Given the description of an element on the screen output the (x, y) to click on. 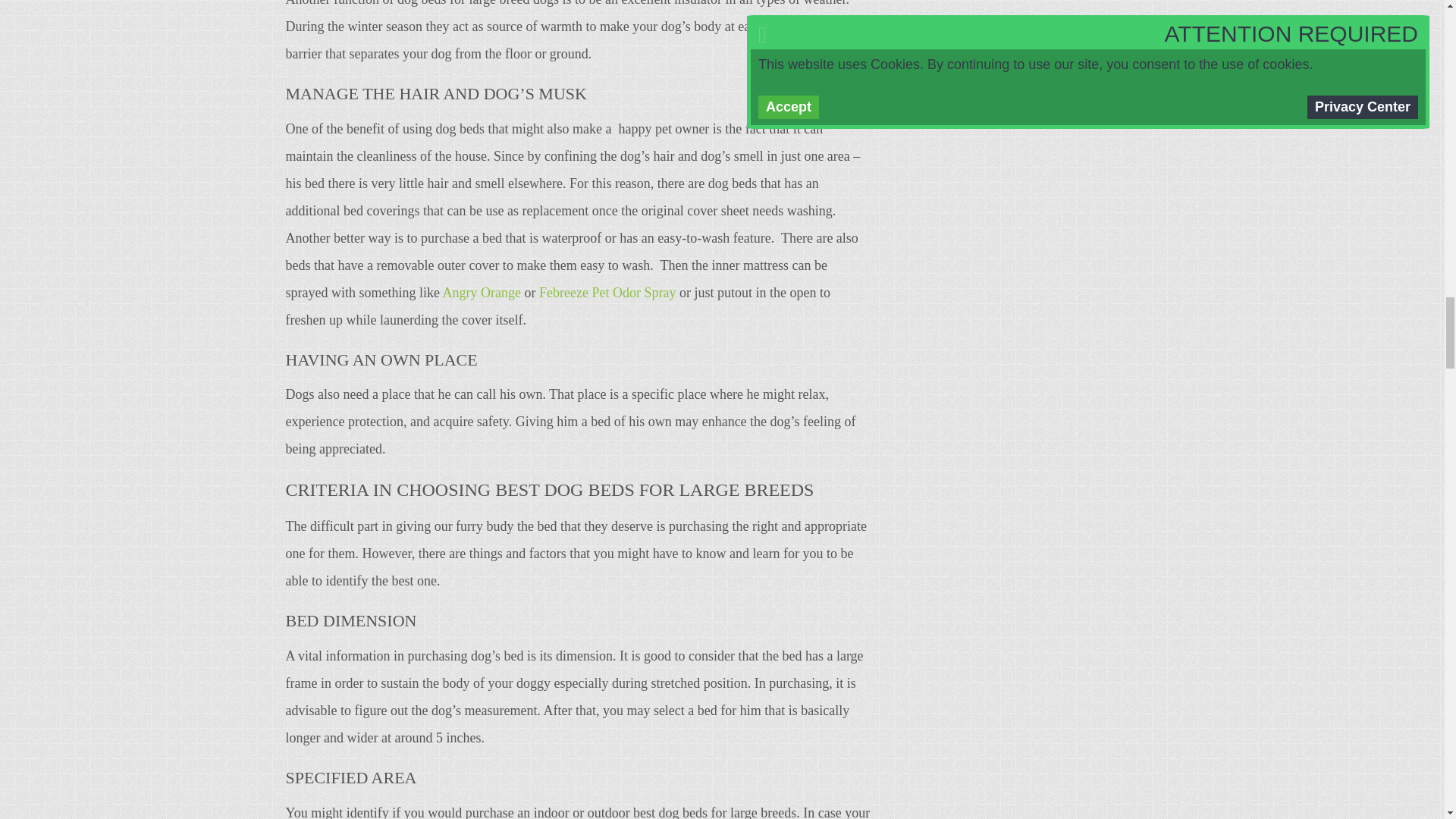
Febreeze Pet Odor Spray (606, 292)
Angry Orange (480, 292)
